Given the description of an element on the screen output the (x, y) to click on. 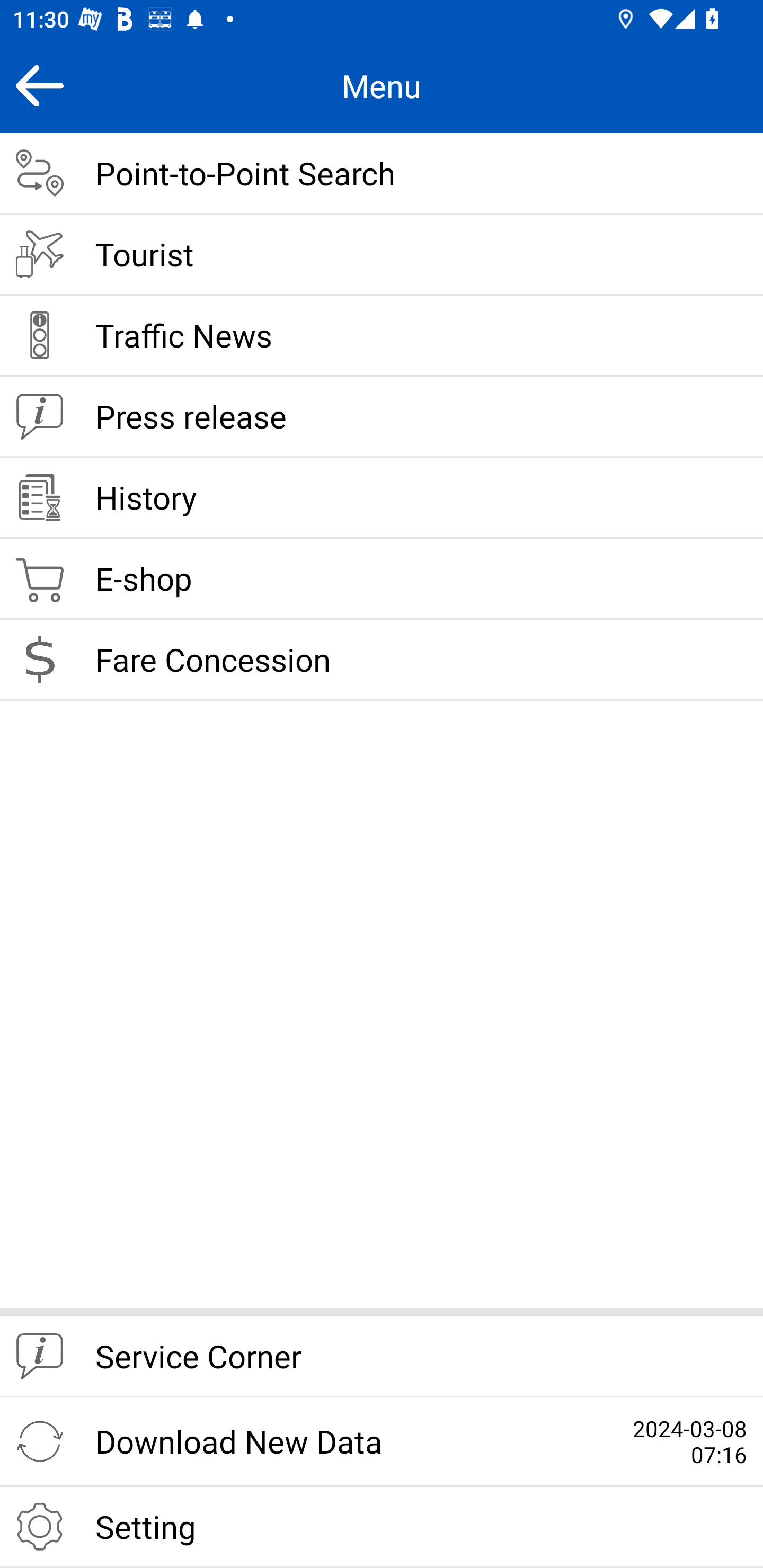
Back (39, 85)
Point-to-Point Search (381, 173)
Tourist (381, 255)
Traffic News (381, 336)
Press release (381, 416)
History (381, 498)
E-shop (381, 579)
Fare Concession (381, 659)
Service Corner (381, 1357)
Download New Data 2024-03-08
07:16 (381, 1441)
Setting (381, 1527)
